Given the description of an element on the screen output the (x, y) to click on. 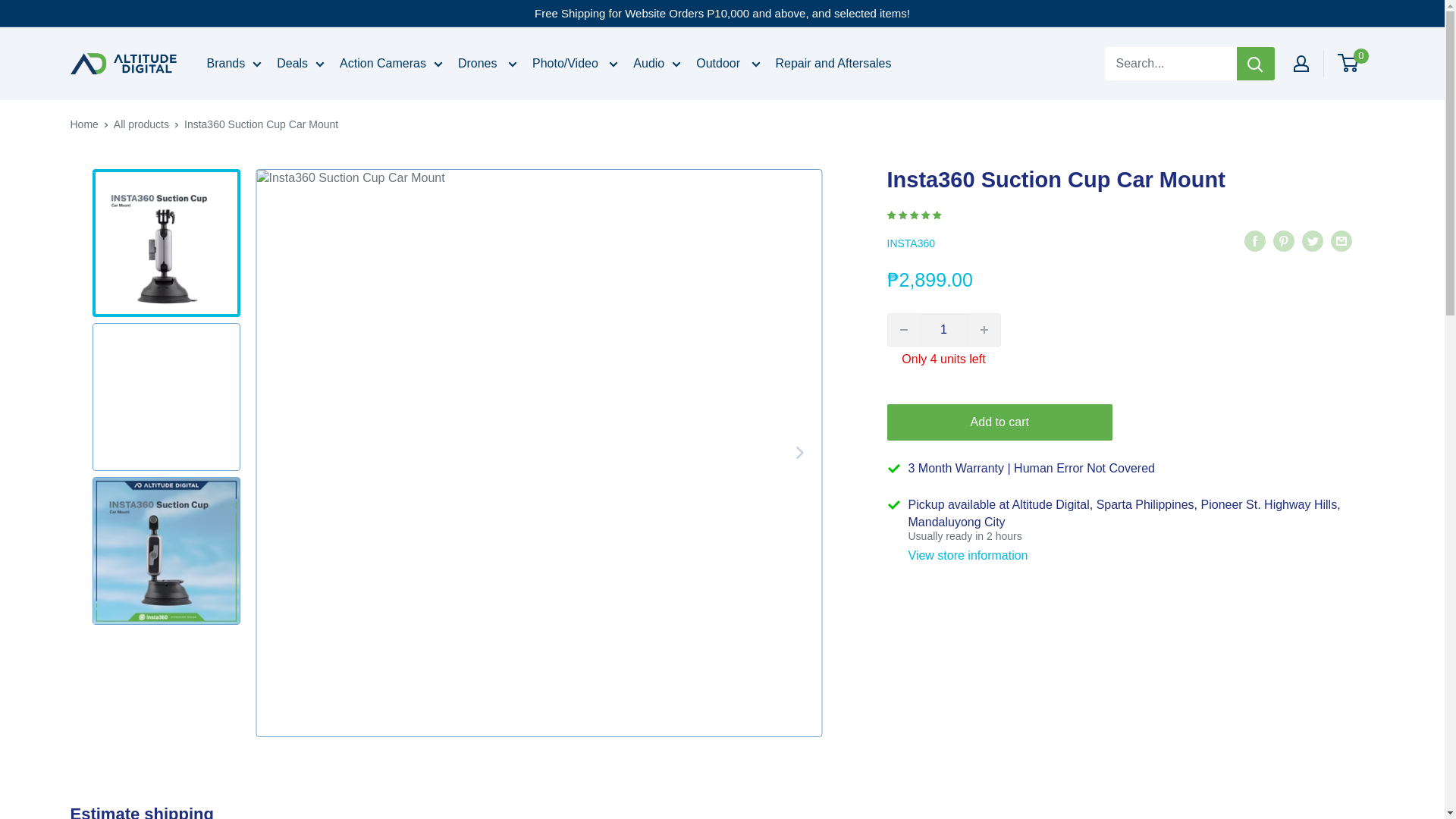
Decrease quantity by 1 (902, 329)
1 (943, 329)
Increase quantity by 1 (983, 329)
